Given the description of an element on the screen output the (x, y) to click on. 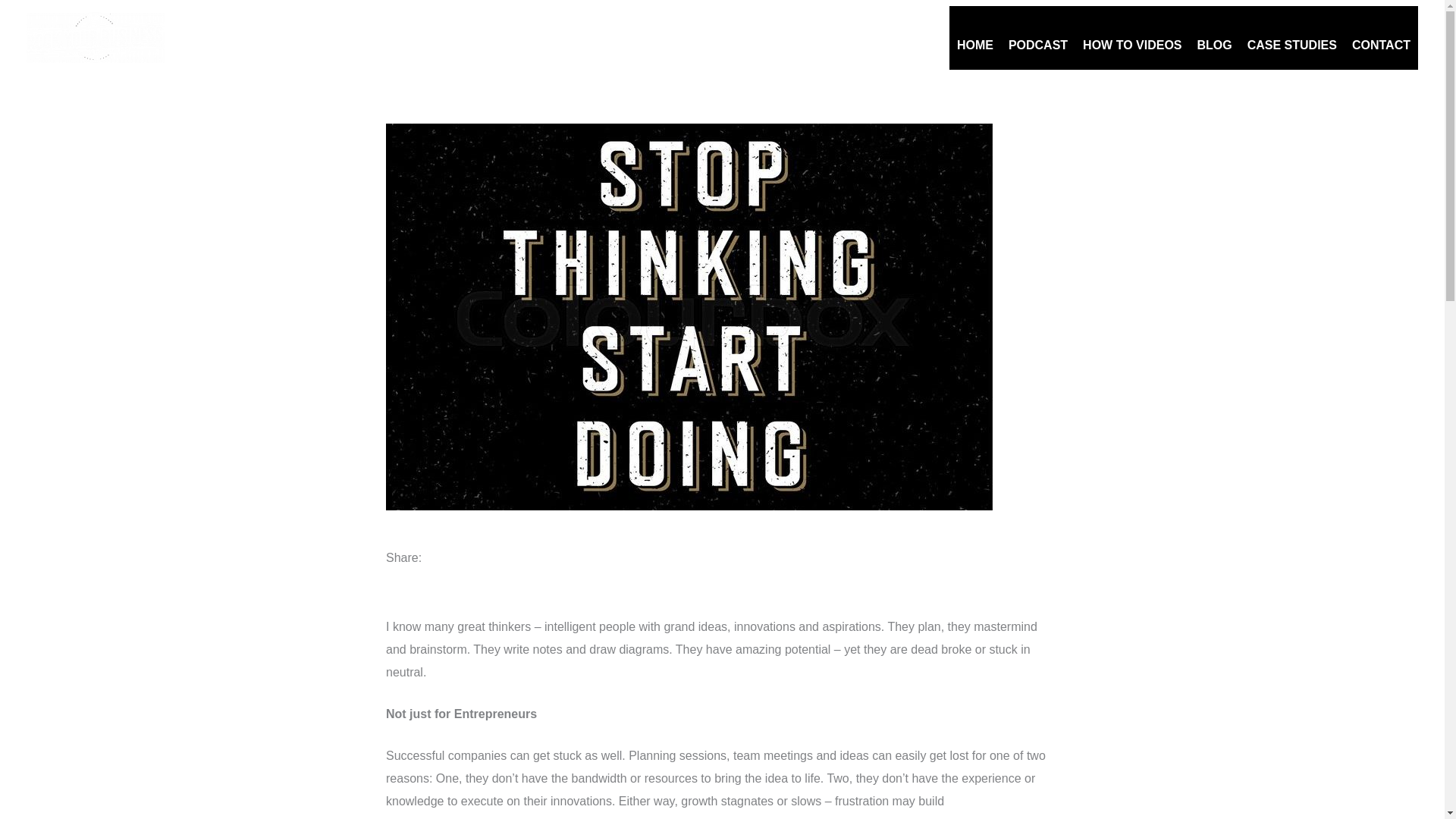
CONTACT (1380, 37)
PODCAST (1038, 37)
HOW TO VIDEOS (1132, 37)
CASE STUDIES (1291, 37)
